Given the description of an element on the screen output the (x, y) to click on. 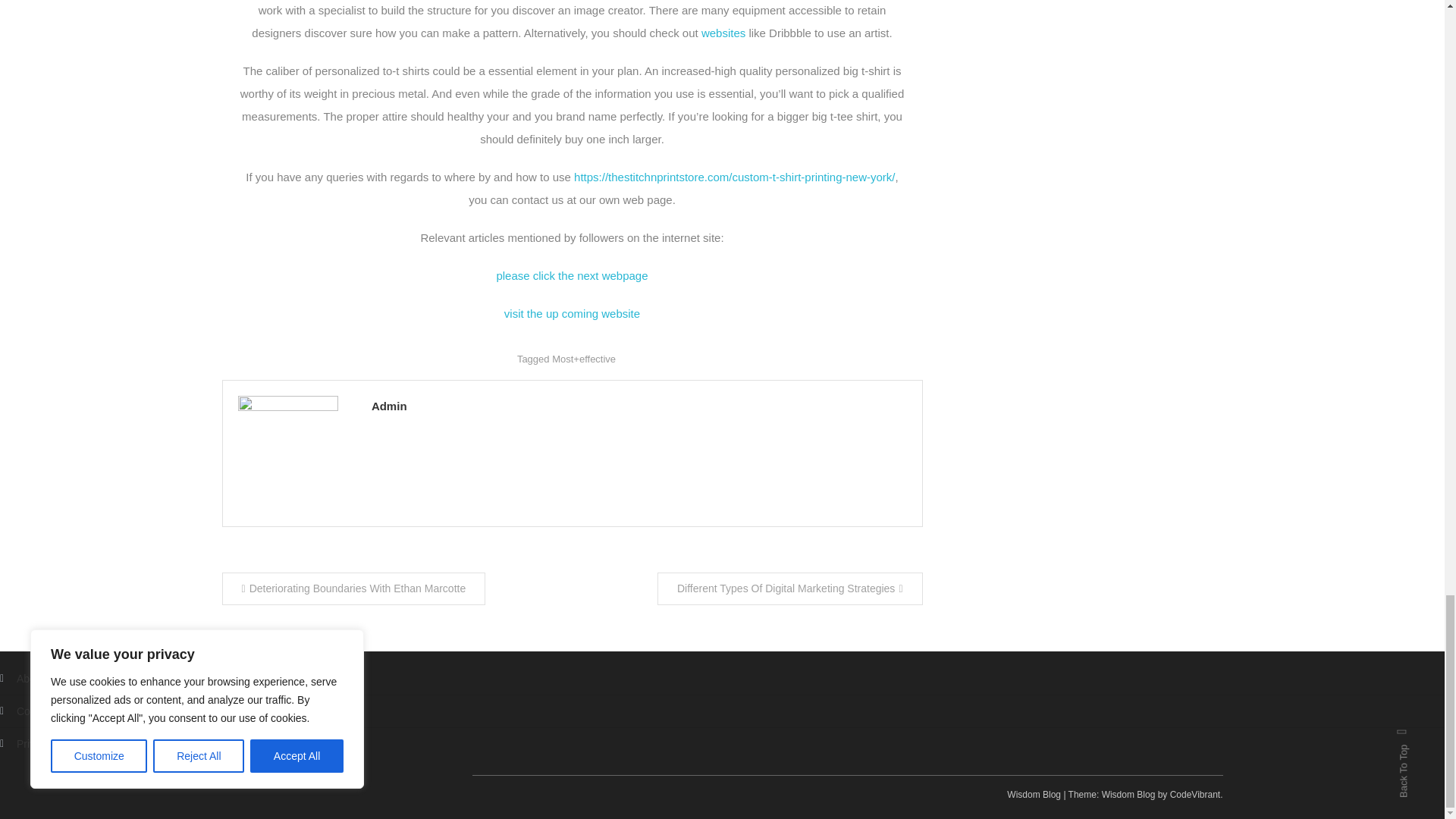
websites (723, 32)
visit the up coming website (571, 313)
Admin (639, 405)
please click the next webpage (571, 275)
Deteriorating Boundaries With Ethan Marcotte (352, 588)
Different Types Of Digital Marketing Strategies (790, 588)
